Given the description of an element on the screen output the (x, y) to click on. 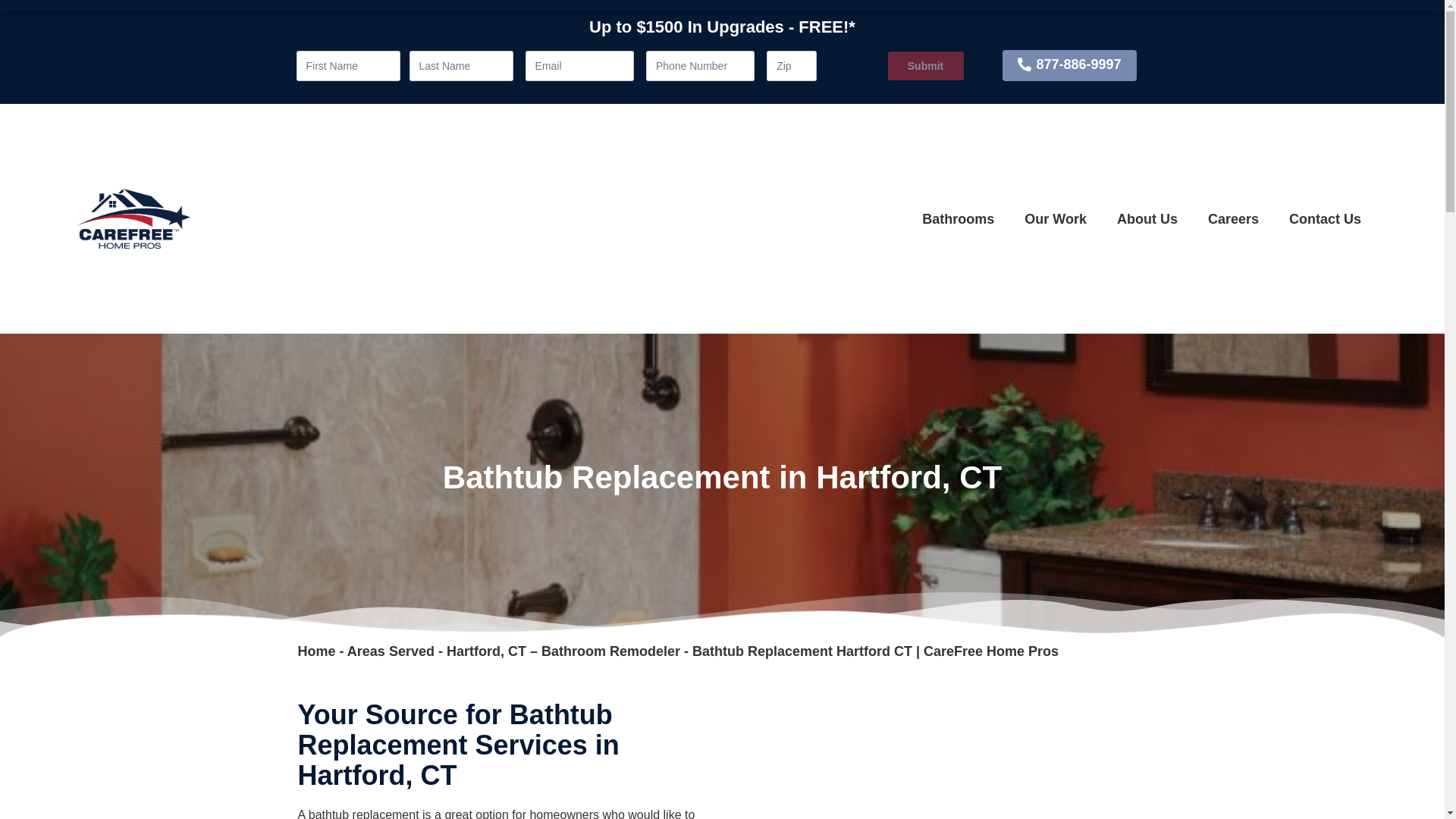
Bathrooms (958, 218)
Contact Us (1324, 218)
About Us (1147, 218)
Careers (1233, 218)
Our Work (1055, 218)
Submit (924, 65)
877-886-9997 (1069, 65)
Submit (924, 65)
